Given the description of an element on the screen output the (x, y) to click on. 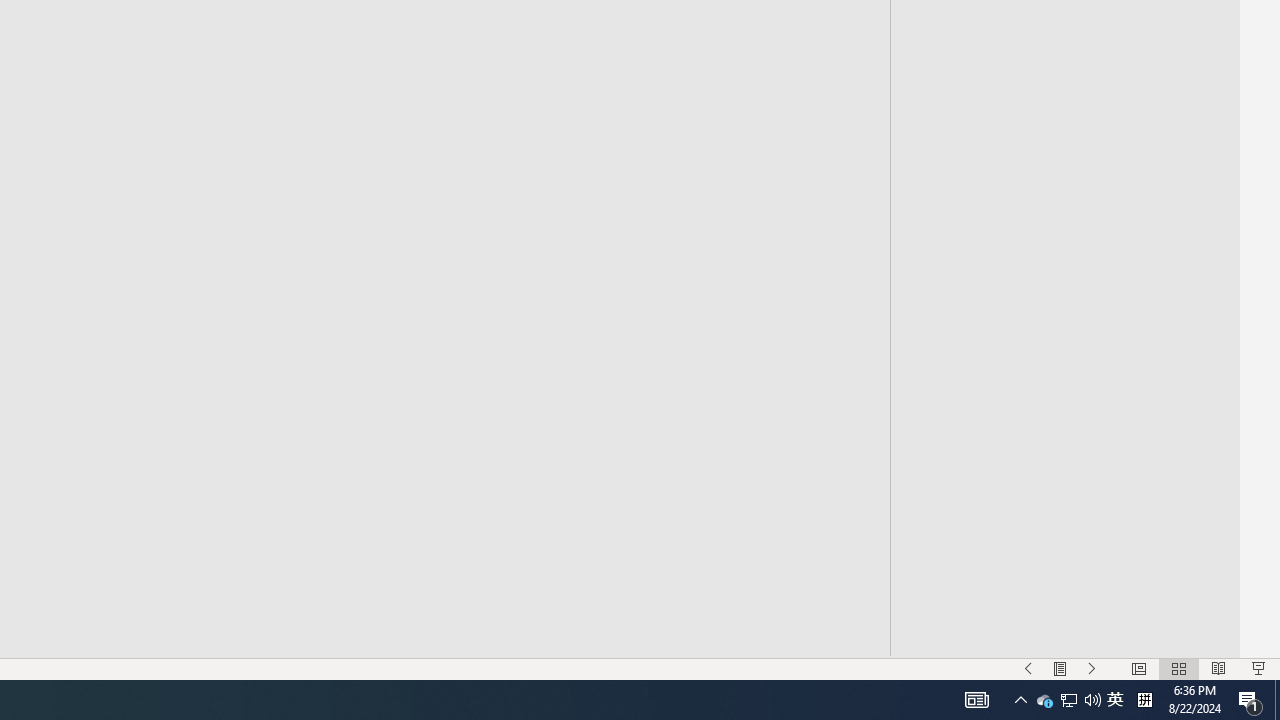
Menu On (1060, 668)
Slide Show Next On (1092, 668)
Slide Show Previous On (1028, 668)
